Given the description of an element on the screen output the (x, y) to click on. 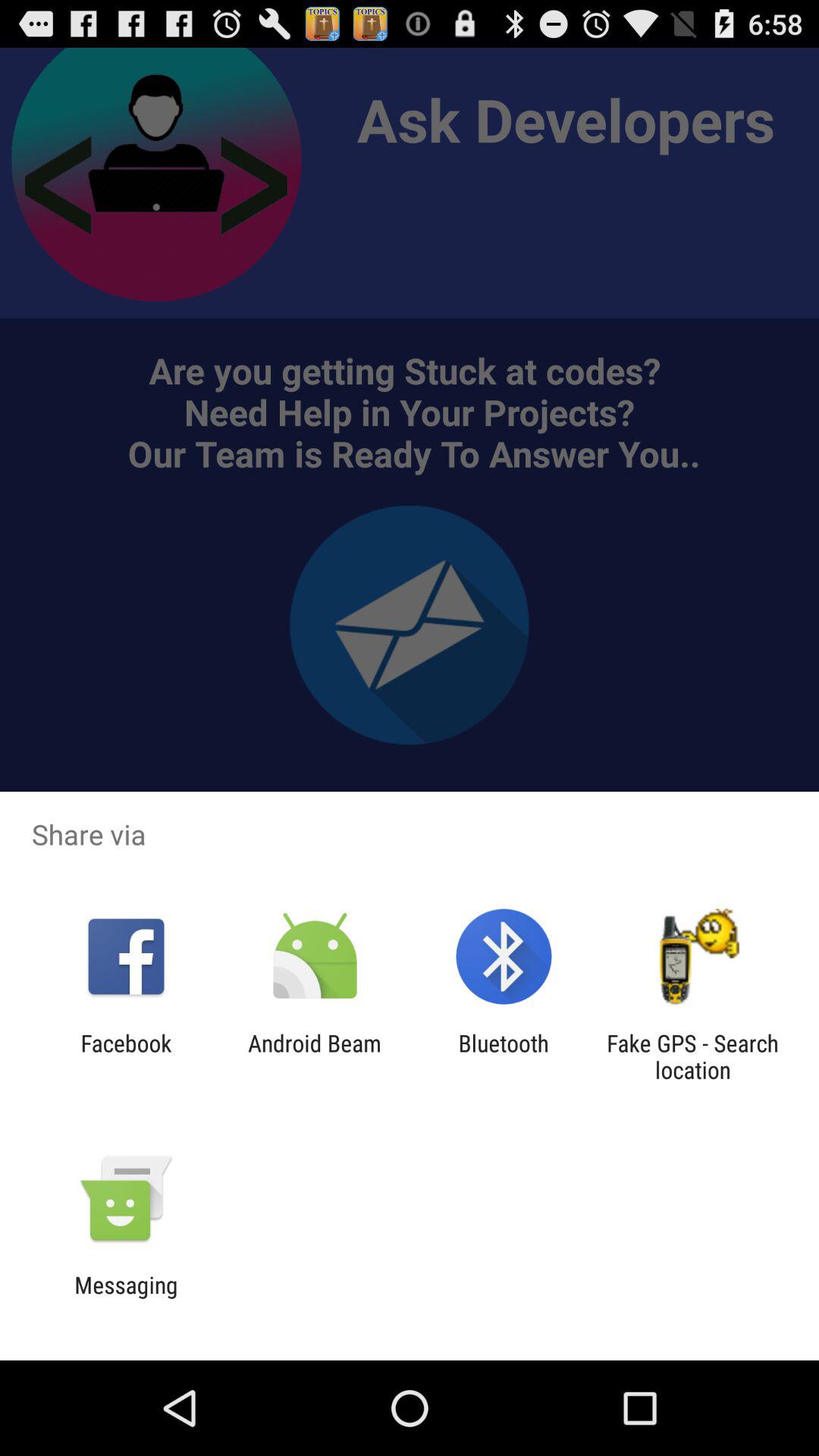
click the icon to the left of the fake gps search item (503, 1056)
